Given the description of an element on the screen output the (x, y) to click on. 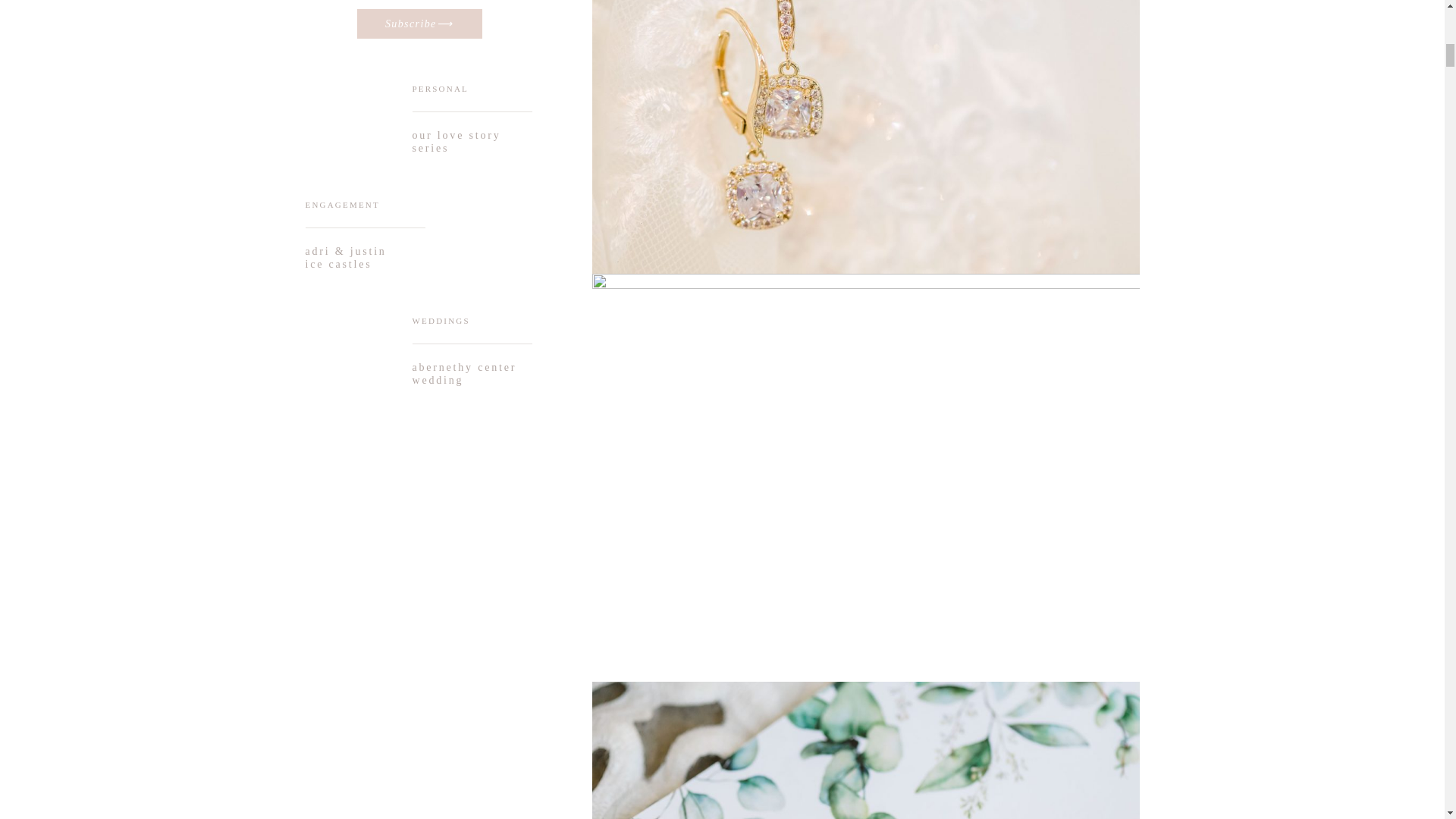
abernethy center wedding (468, 373)
our love story series (468, 141)
